Given the description of an element on the screen output the (x, y) to click on. 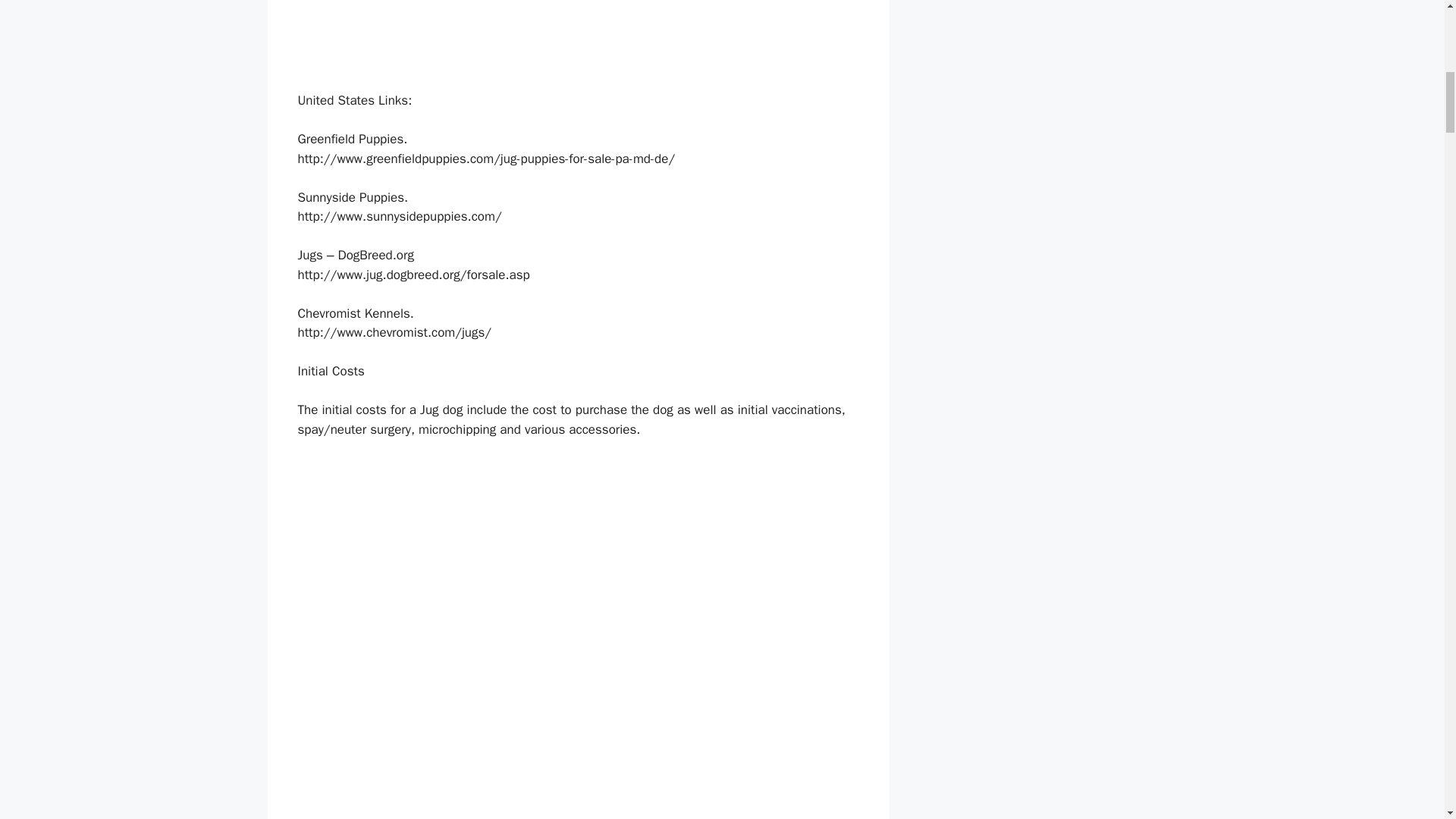
Scroll back to top (1406, 720)
